Given the description of an element on the screen output the (x, y) to click on. 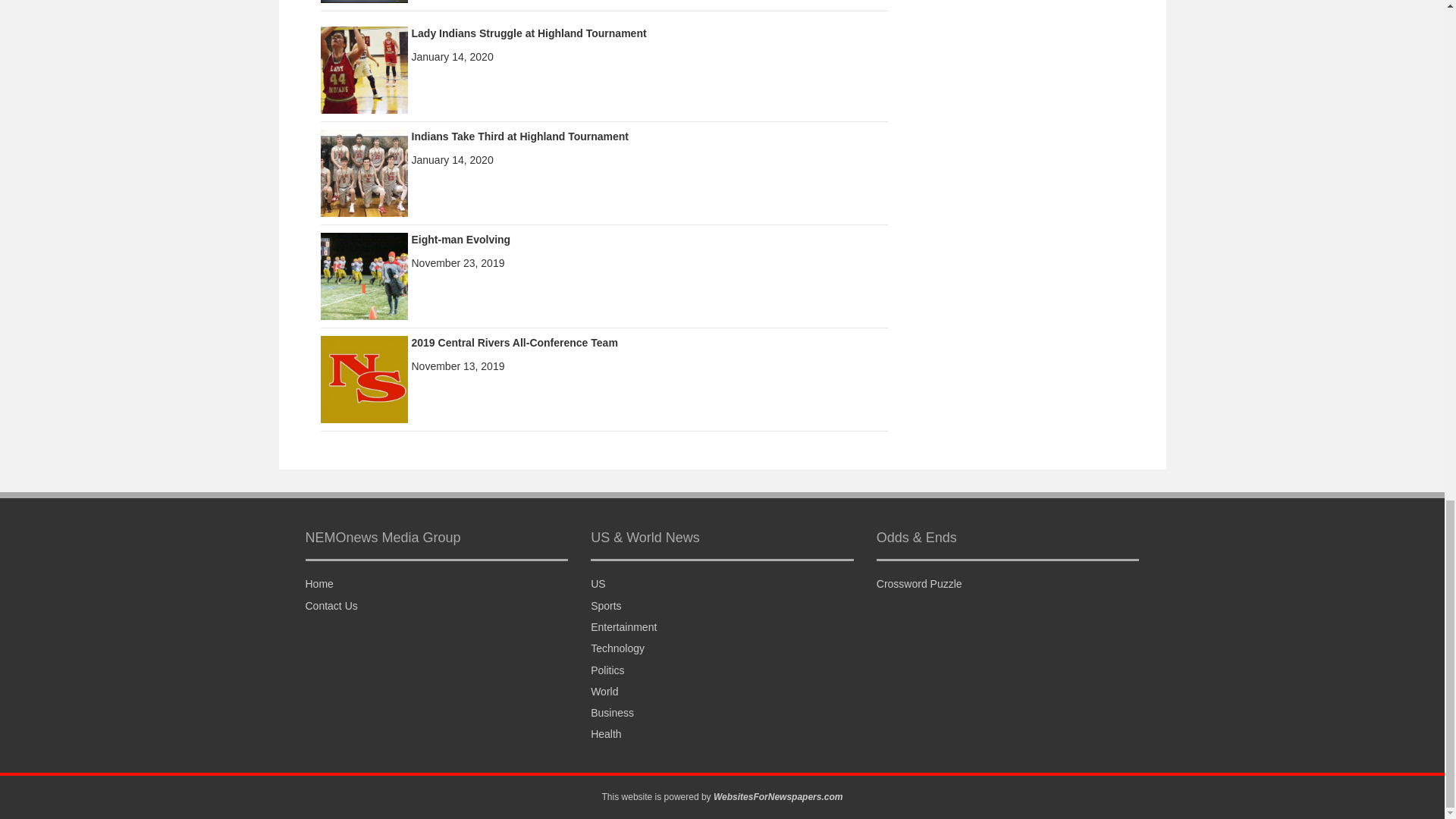
Indians Take Third at Highland Tournament (519, 136)
Eight-man Evolving (460, 239)
Lady Indians Struggle at Highland Tournament (528, 33)
Lady Indians Struggle at Highland Tournament (363, 69)
2019 Central Rivers All-Conference Team (513, 342)
2019 Central Rivers All-Conference Team (363, 378)
Eight-man Evolving (363, 275)
Indians Take Third at Highland Tournament (363, 172)
